Given the description of an element on the screen output the (x, y) to click on. 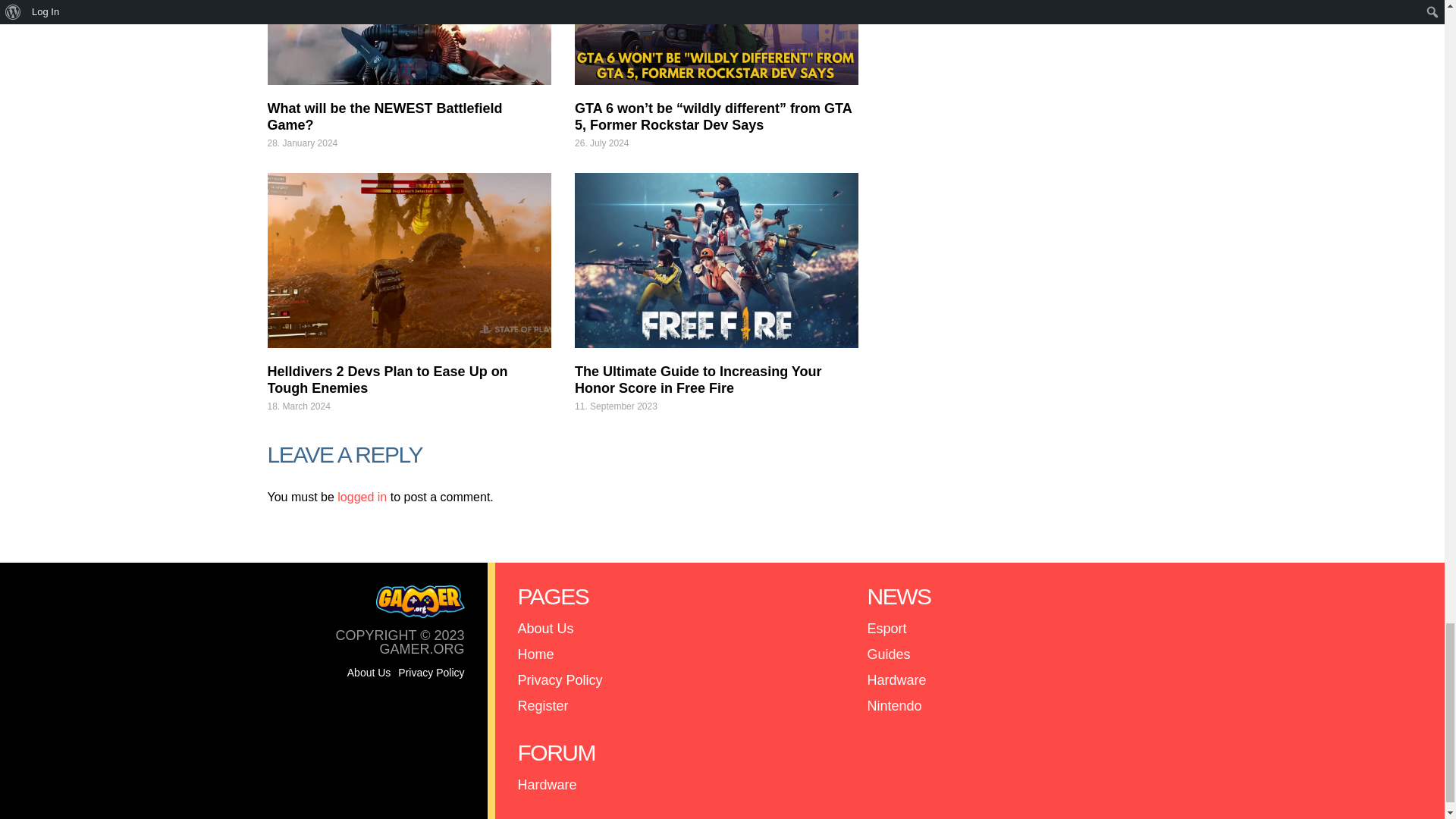
What will be the NEWEST Battlefield Game? (408, 42)
What will be the NEWEST Battlefield Game? (384, 116)
